Given the description of an element on the screen output the (x, y) to click on. 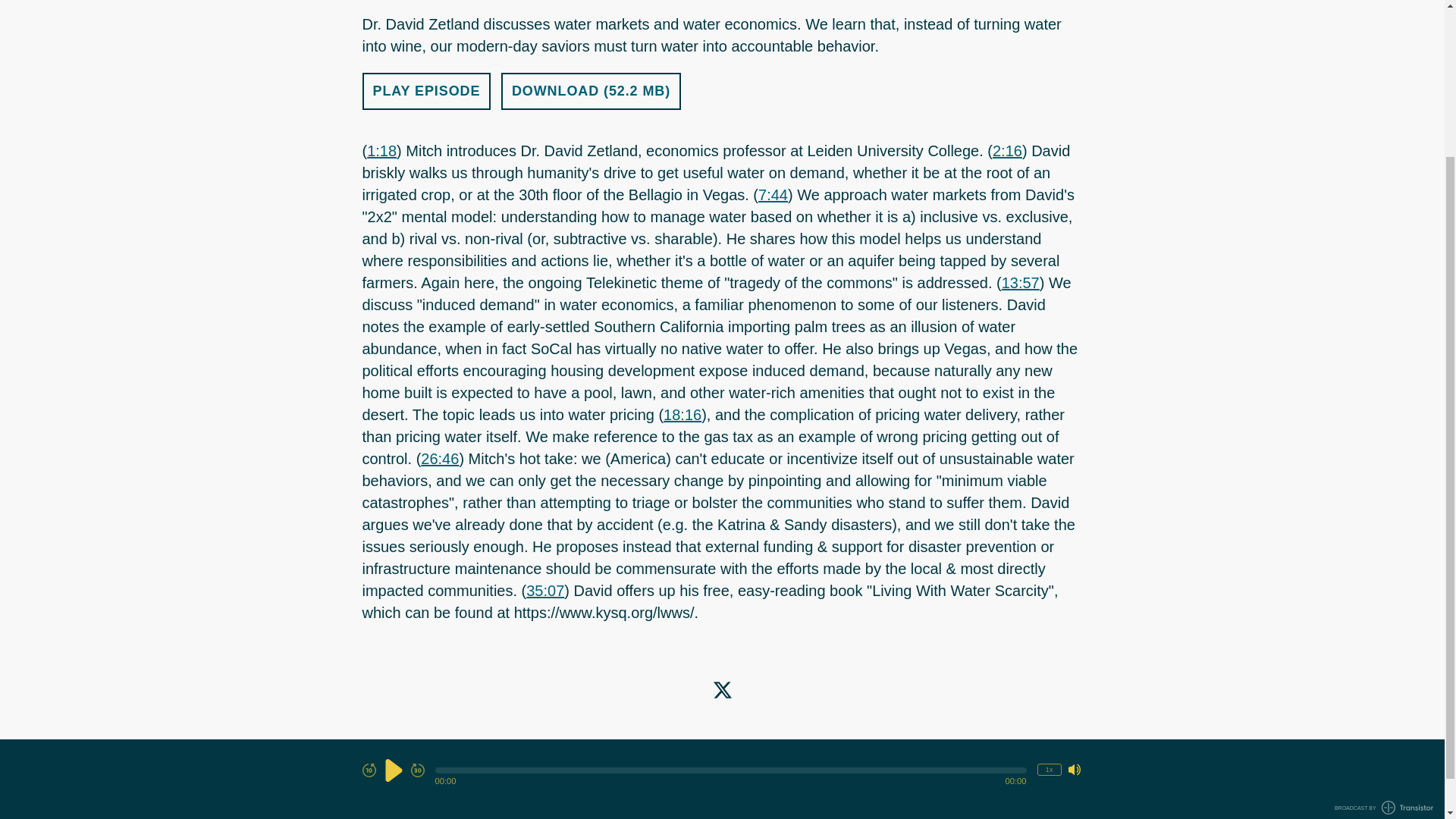
PLAY EPISODE (427, 90)
Jump to 13:57 in this episode (1020, 282)
1:18 (381, 150)
2:16 (1007, 150)
13:57 (1020, 282)
18:16 (682, 414)
X (721, 689)
1x (1048, 577)
Play Episode (427, 90)
Jump to 7:44 in this episode (772, 194)
Jump to 1:18 in this episode (381, 150)
X (721, 689)
Jump to 18:16 in this episode (682, 414)
Jump to 26:46 in this episode (439, 458)
BROADCAST BY TRANSISTOR LOGO (1383, 615)
